Given the description of an element on the screen output the (x, y) to click on. 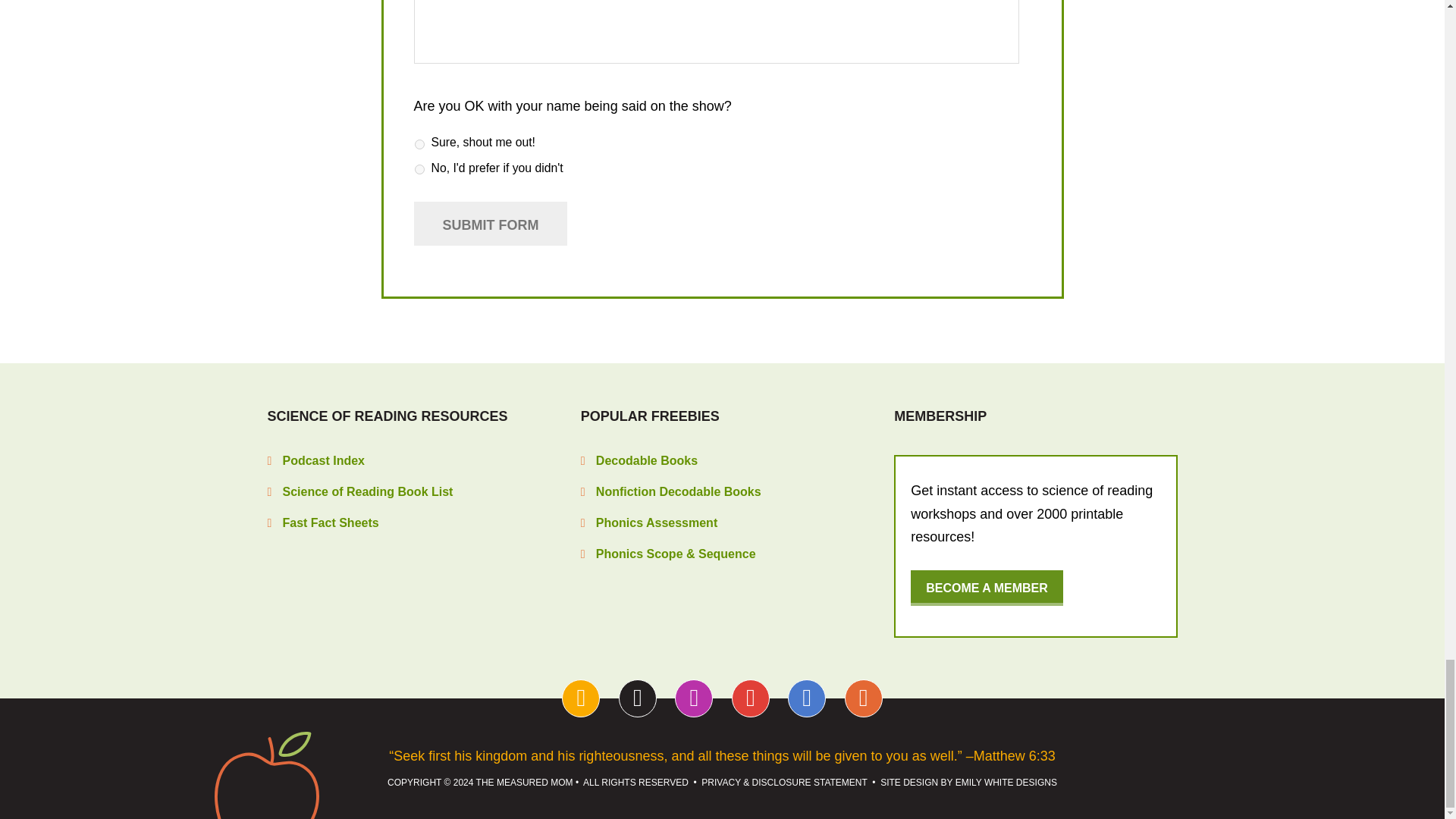
Emily White Designs (1006, 782)
No, I'd prefer if you didn't (418, 169)
Submit Form (490, 223)
Sure, shout me out! (418, 144)
